Given the description of an element on the screen output the (x, y) to click on. 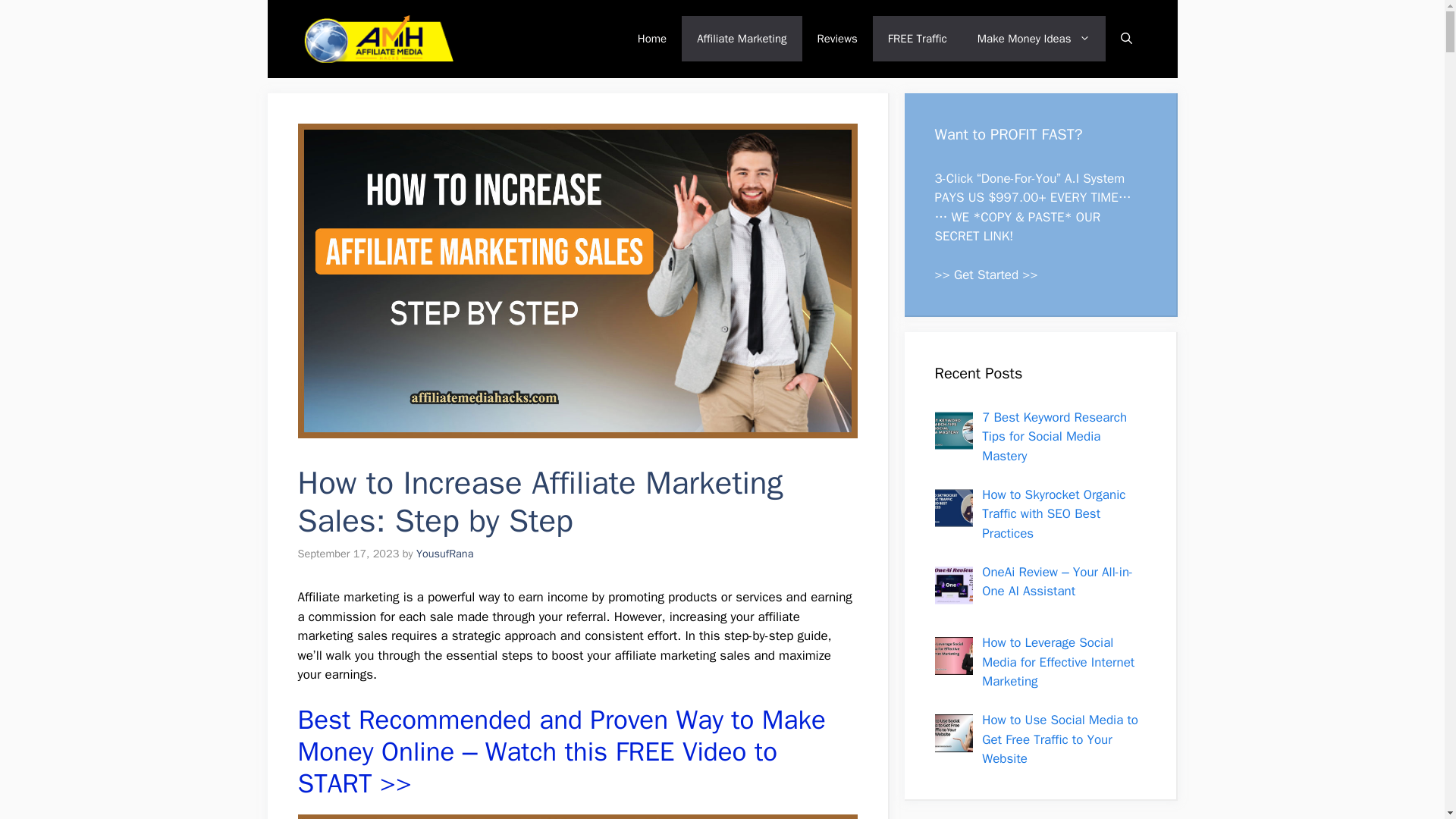
YousufRana (445, 553)
Affiliate Marketing (741, 38)
View all posts by YousufRana (445, 553)
FREE Traffic (917, 38)
Reviews (837, 38)
Make Money Ideas (1033, 38)
Home (652, 38)
